Given the description of an element on the screen output the (x, y) to click on. 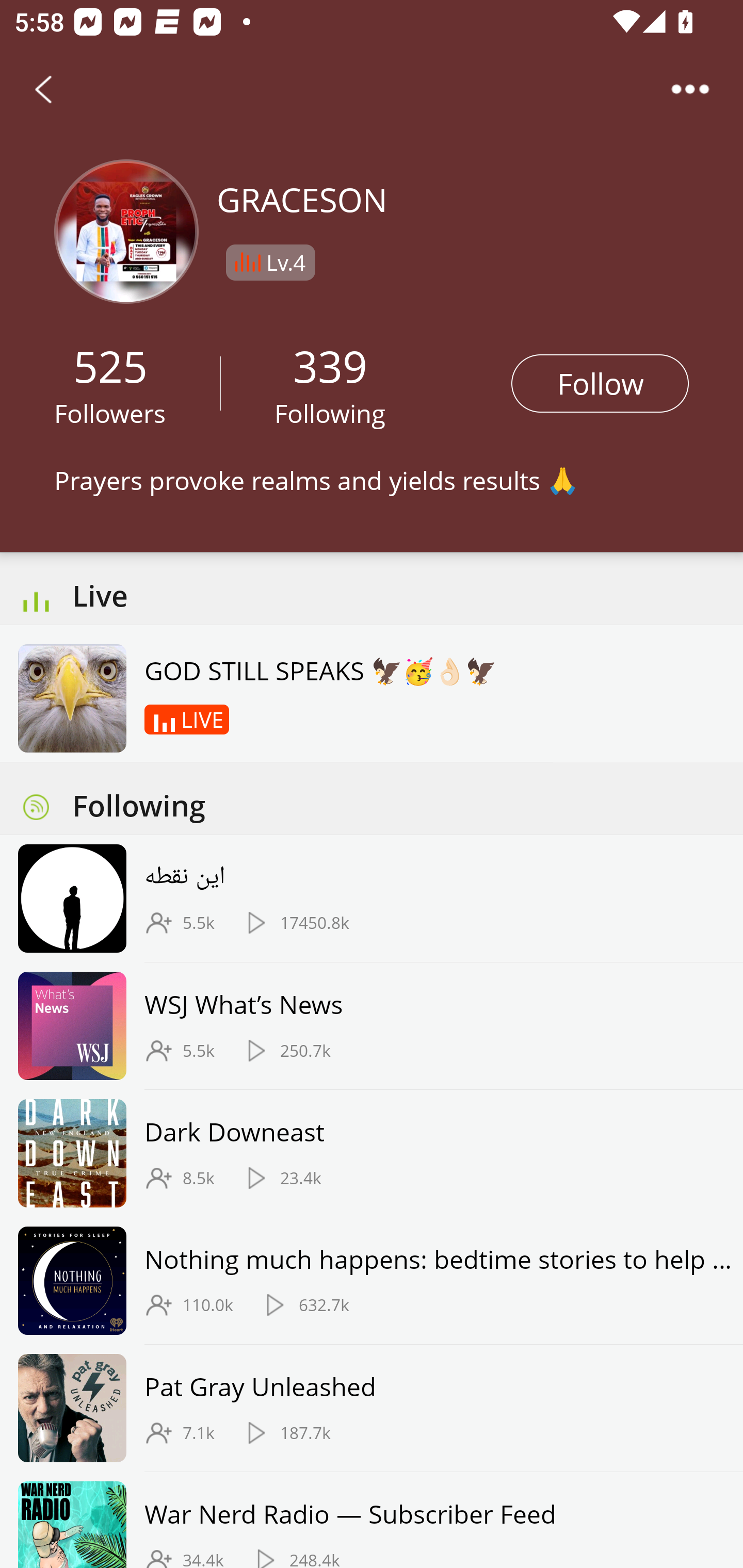
525 (110, 365)
339 (329, 365)
Follow (599, 383)
Followers (110, 413)
Following (329, 413)
GOD STILL SPEAKS 🦅🥳👌🏻🦅 LIVE (285, 693)
این نقطه 5.5k 17450.8k (371, 898)
WSJ What’s News 5.5k 250.7k (371, 1025)
Dark Downeast 8.5k 23.4k (371, 1152)
Pat Gray Unleashed 7.1k 187.7k (371, 1408)
War Nerd Radio — Subscriber Feed 34.4k 248.4k (371, 1520)
